Given the description of an element on the screen output the (x, y) to click on. 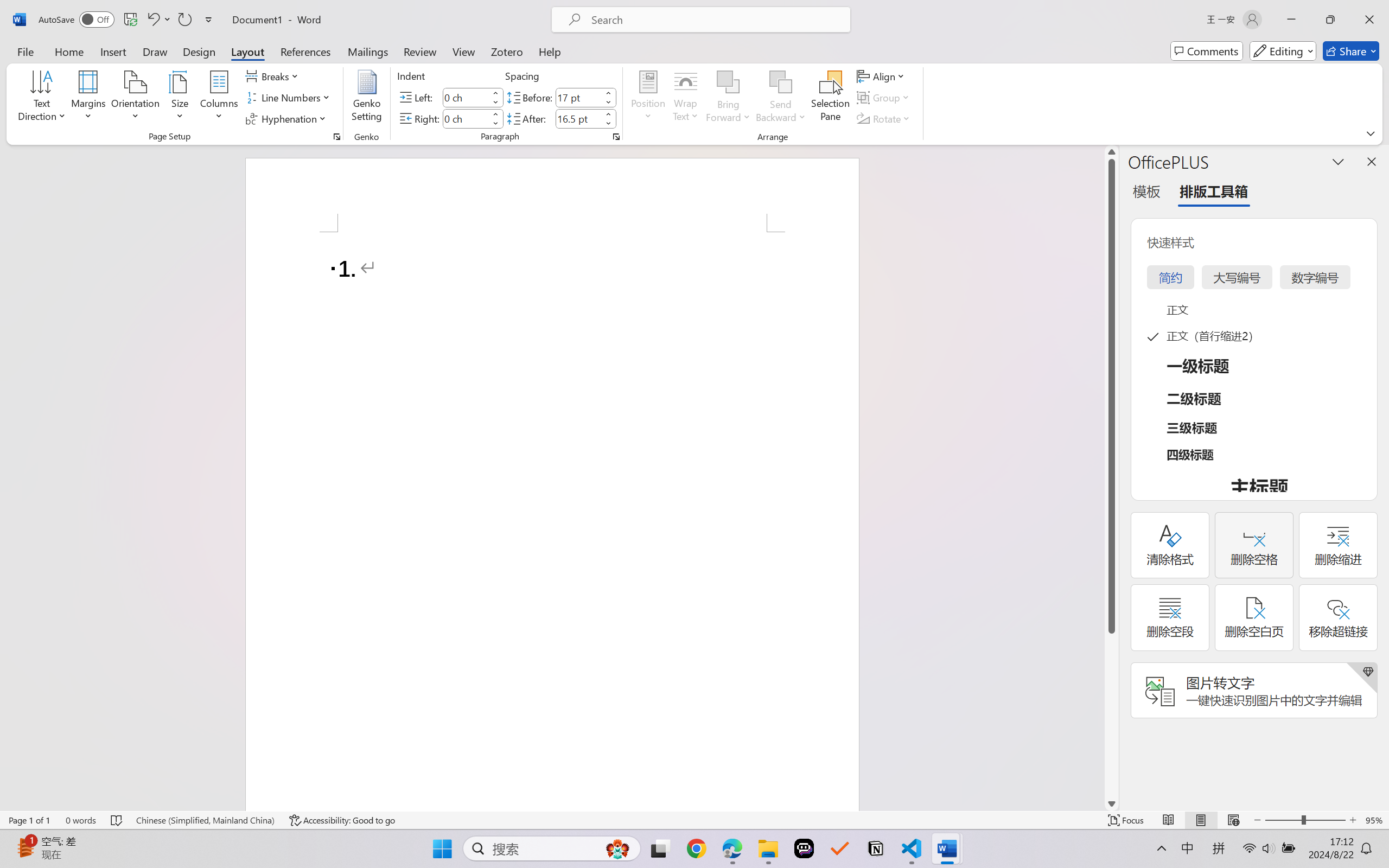
Undo Number Default (152, 19)
Align (881, 75)
Selection Pane... (830, 97)
